Given the description of an element on the screen output the (x, y) to click on. 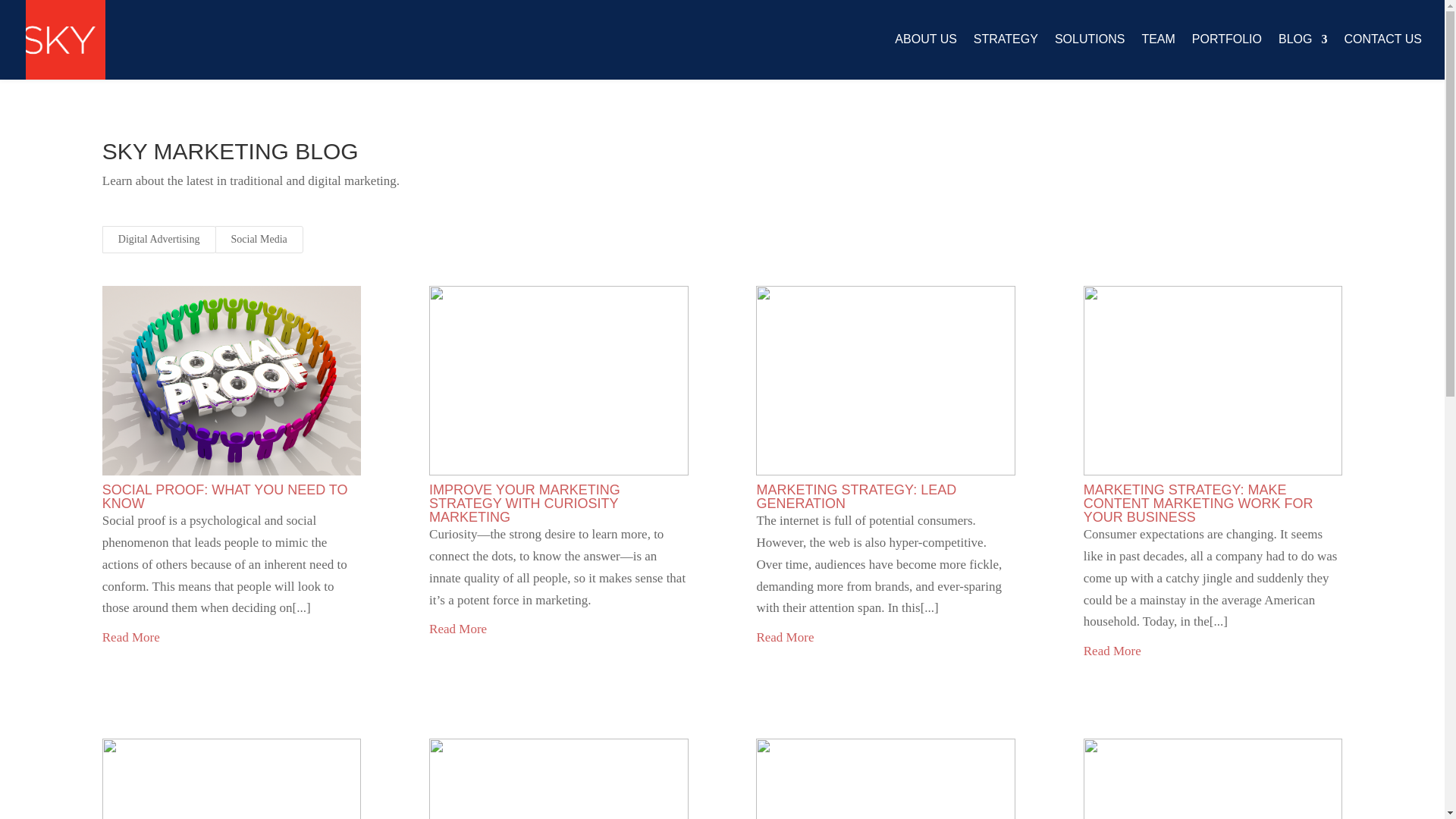
Read More (784, 638)
SOLUTIONS (1089, 56)
Digital Advertising (158, 239)
STRATEGY (1006, 56)
MARKETING STRATEGY: LEAD GENERATION (855, 496)
Read More (1112, 651)
CONTACT US (1382, 56)
Social Media (258, 239)
Social Media (258, 239)
